Given the description of an element on the screen output the (x, y) to click on. 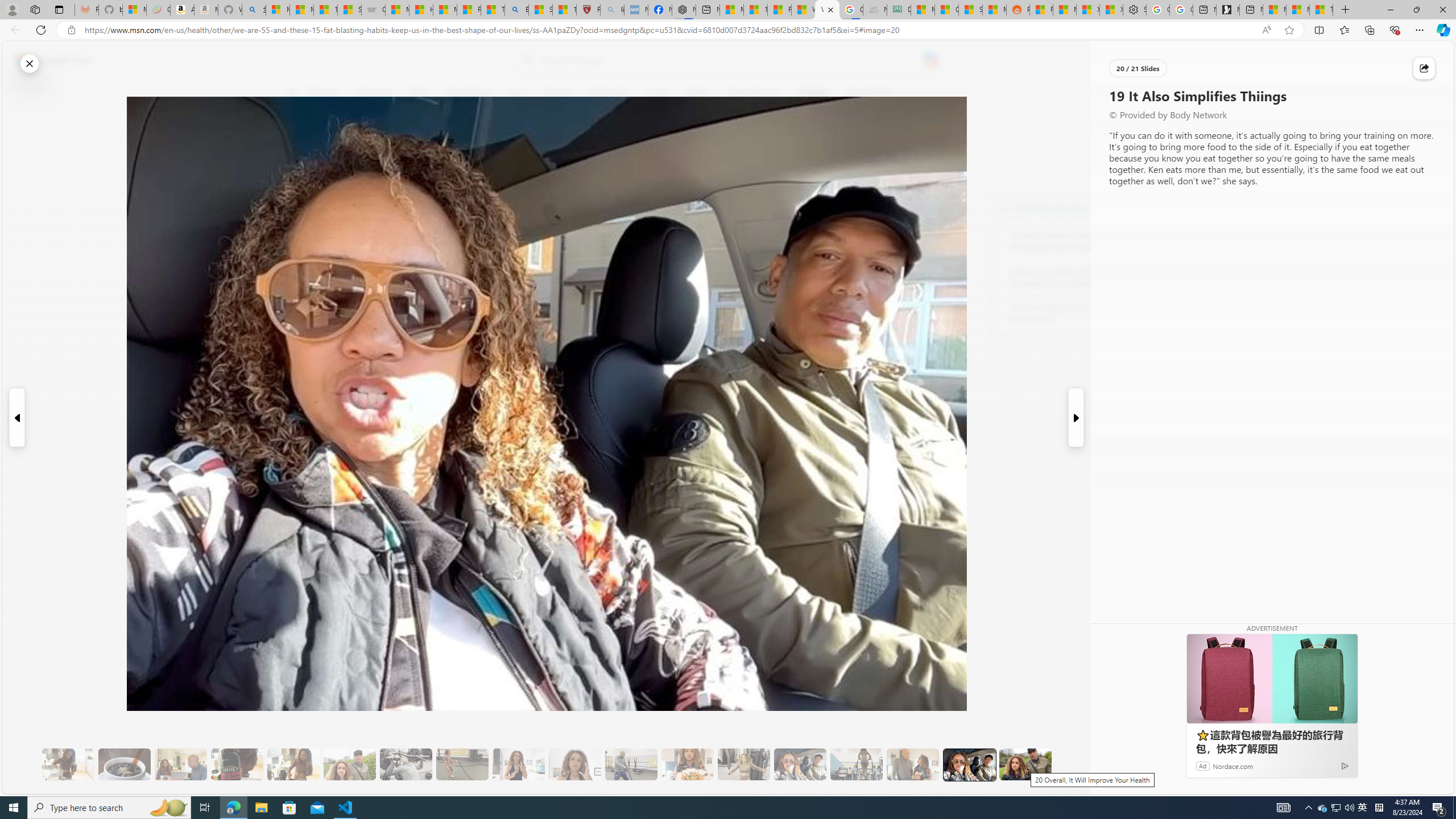
15 They Also Indulge in a Low-Calorie Sweet Treat (743, 764)
Science (558, 92)
Microsoft Start Gaming (1227, 9)
Visit Body Network website (1145, 207)
6 (299, 170)
Microsoft account | Privacy (277, 9)
Address and search bar (669, 29)
Notifications (1405, 60)
Class: at-item (299, 266)
12 Popular Science Lies that Must be Corrected (563, 9)
10 Then, They Do HIIT Cardio (462, 764)
